Given the description of an element on the screen output the (x, y) to click on. 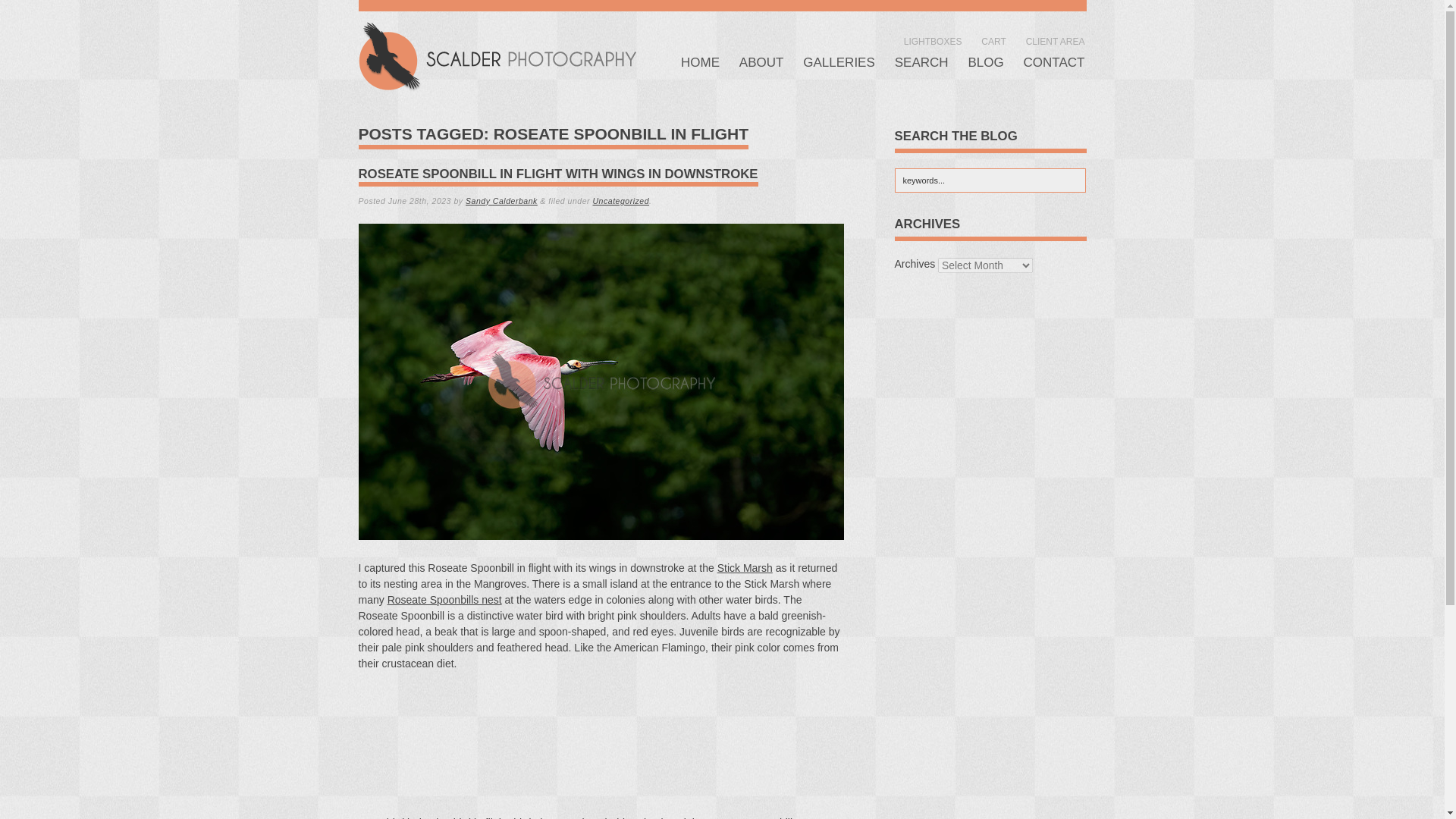
Access your PhotoShelter client area pages (1055, 41)
Homepage (700, 62)
View my complete list of galleries and collections (839, 62)
Scalder Photography (496, 61)
bird behavior (416, 817)
ROSEATE SPOONBILL IN FLIGHT WITH WINGS IN DOWNSTROKE (557, 173)
ABOUT (761, 62)
Uncategorized (620, 200)
Advanced Search Page (922, 62)
View your shopping cart (993, 41)
Find out more about me (761, 62)
LIGHTBOXES (933, 41)
HOME (700, 62)
Roseate Spoonbill (749, 817)
